Given the description of an element on the screen output the (x, y) to click on. 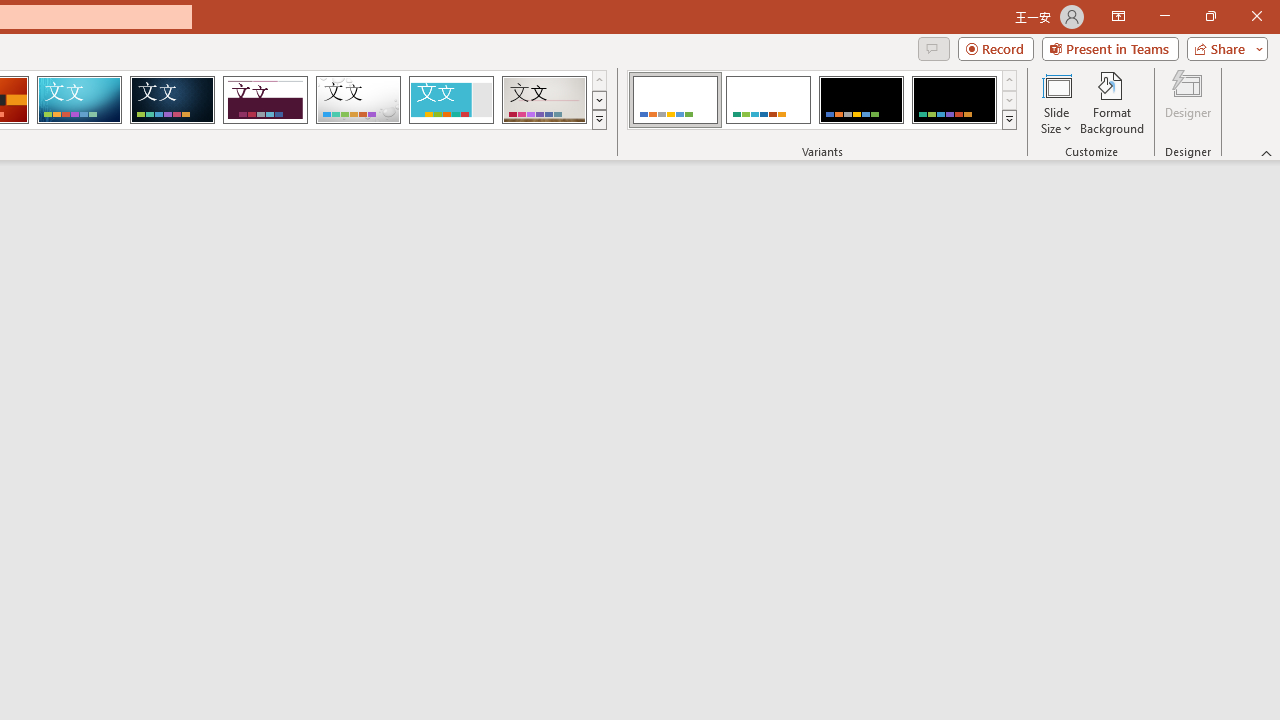
Circuit Loading Preview... (79, 100)
Frame Loading Preview... (450, 100)
Office Theme Variant 3 (861, 100)
Themes (598, 120)
Slide Size (1056, 102)
Row Down (1009, 100)
Row up (1009, 79)
Variants (1009, 120)
Office Theme Variant 4 (953, 100)
Format Background (1111, 102)
